Given the description of an element on the screen output the (x, y) to click on. 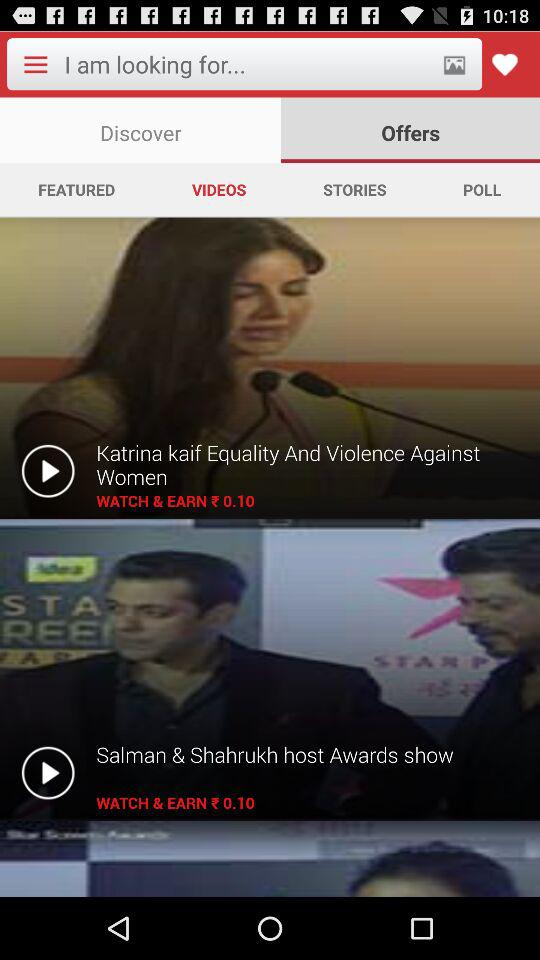
open menu (35, 64)
